Given the description of an element on the screen output the (x, y) to click on. 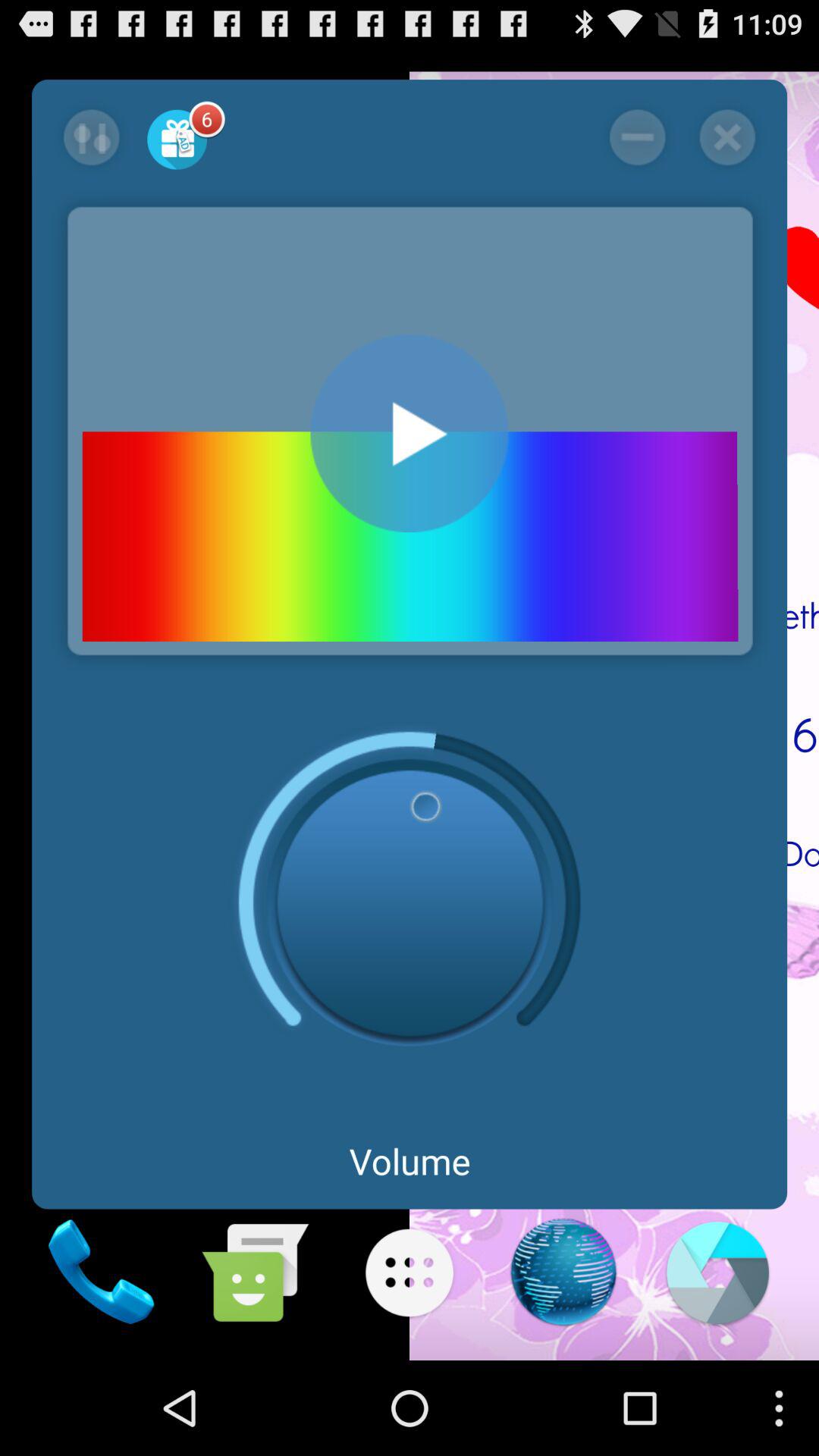
play audio (409, 433)
